Given the description of an element on the screen output the (x, y) to click on. 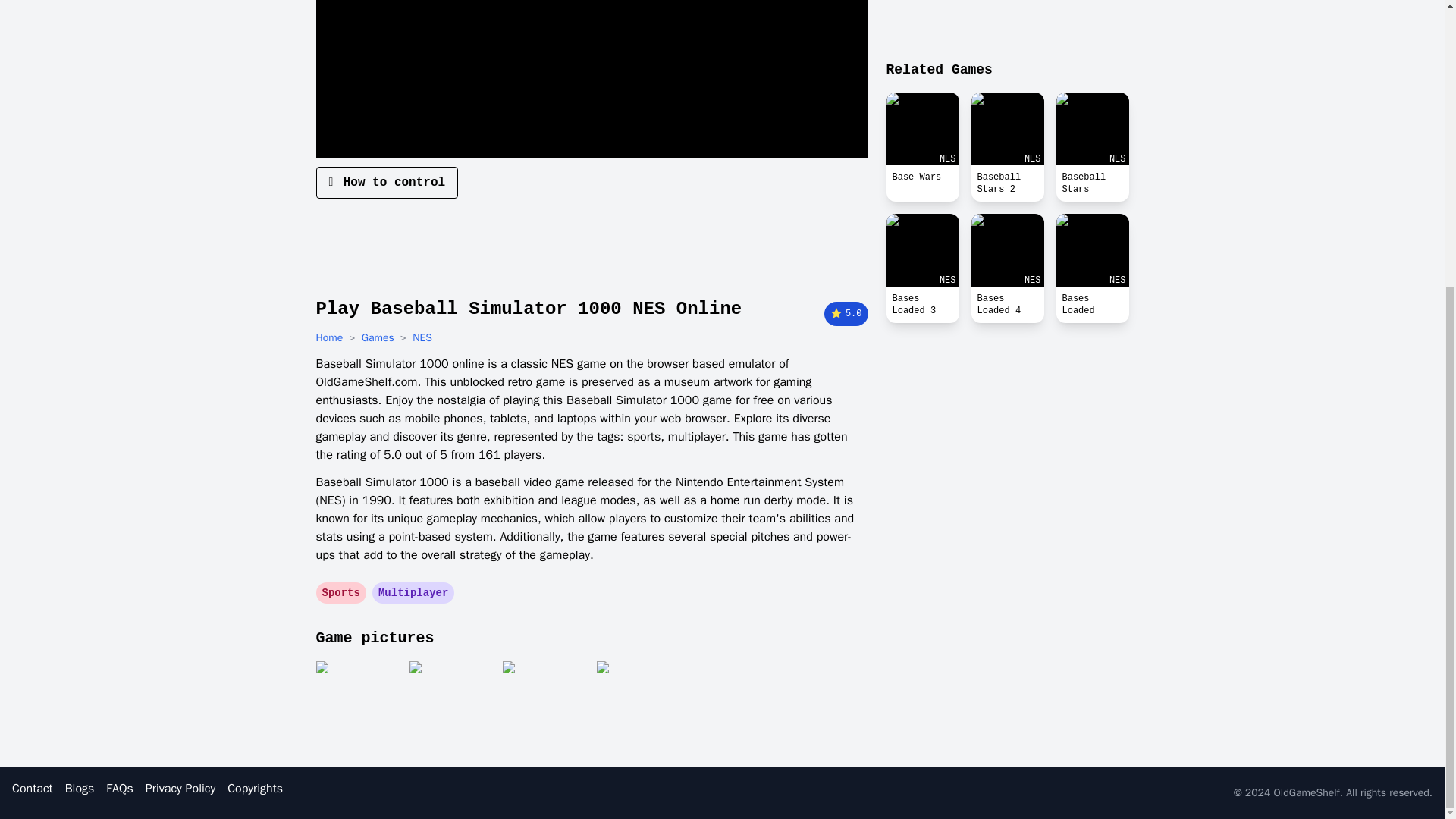
NES (1007, 249)
Baseball Simulator 1000 game screenshot 1 (356, 698)
Privacy Policy (180, 788)
NES (422, 337)
Baseball Simulator 1000 game screenshot 3 (544, 698)
NES (921, 249)
NES (1091, 128)
Base Wars (921, 128)
Bases Loaded (1091, 304)
Blogs (79, 788)
